Given the description of an element on the screen output the (x, y) to click on. 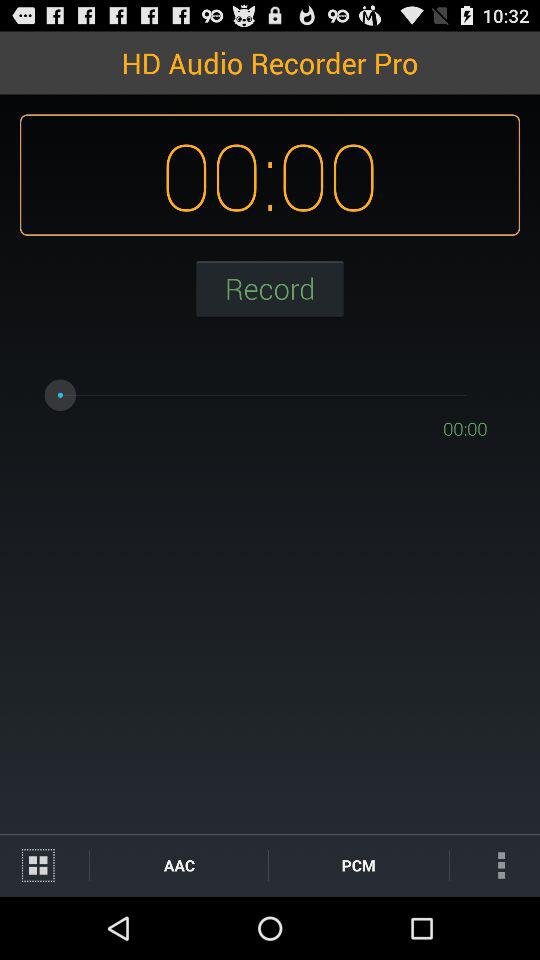
scroll until aac icon (178, 864)
